Given the description of an element on the screen output the (x, y) to click on. 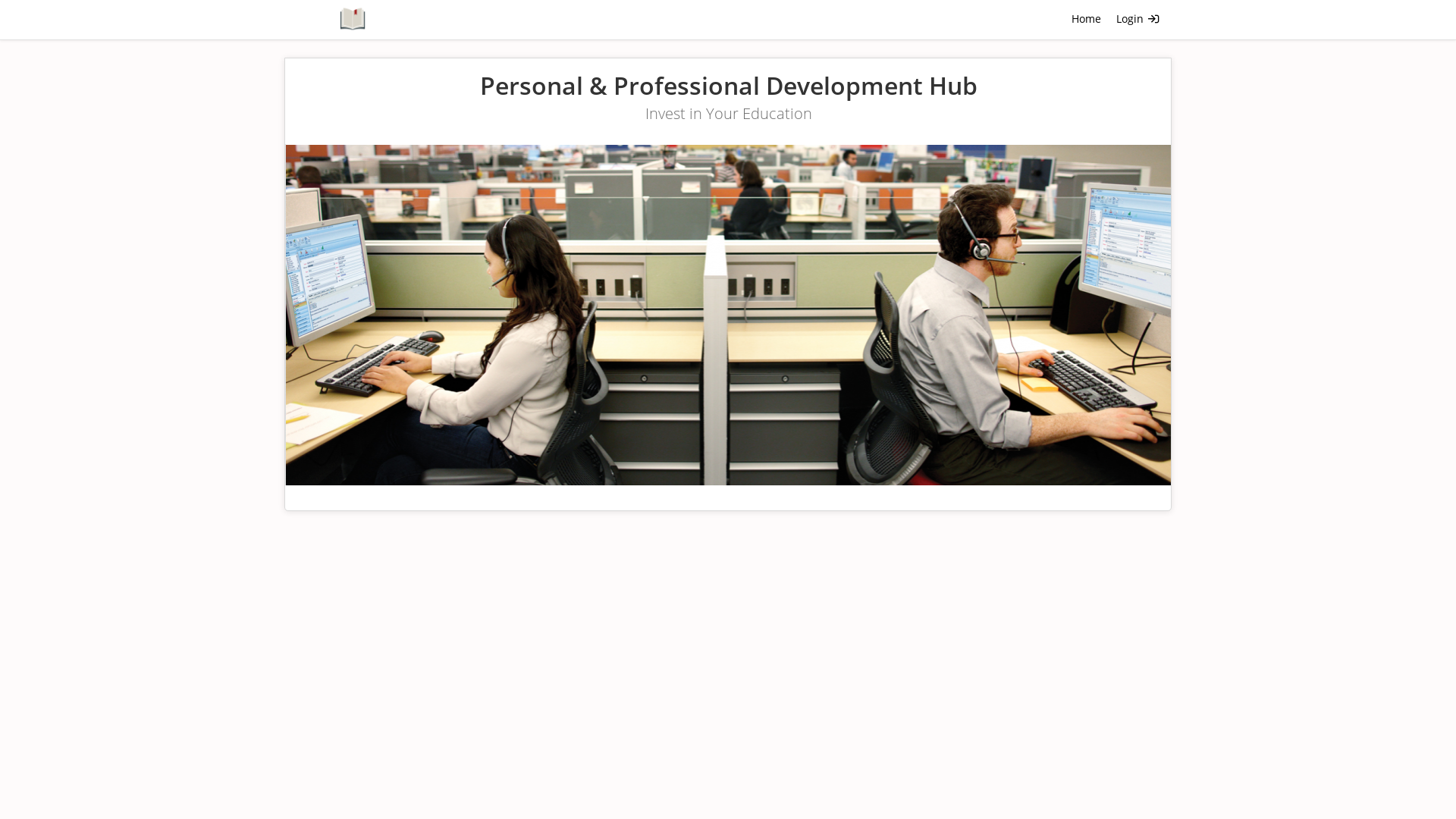
Login  Element type: text (1137, 19)
Home Element type: text (1085, 19)
